Given the description of an element on the screen output the (x, y) to click on. 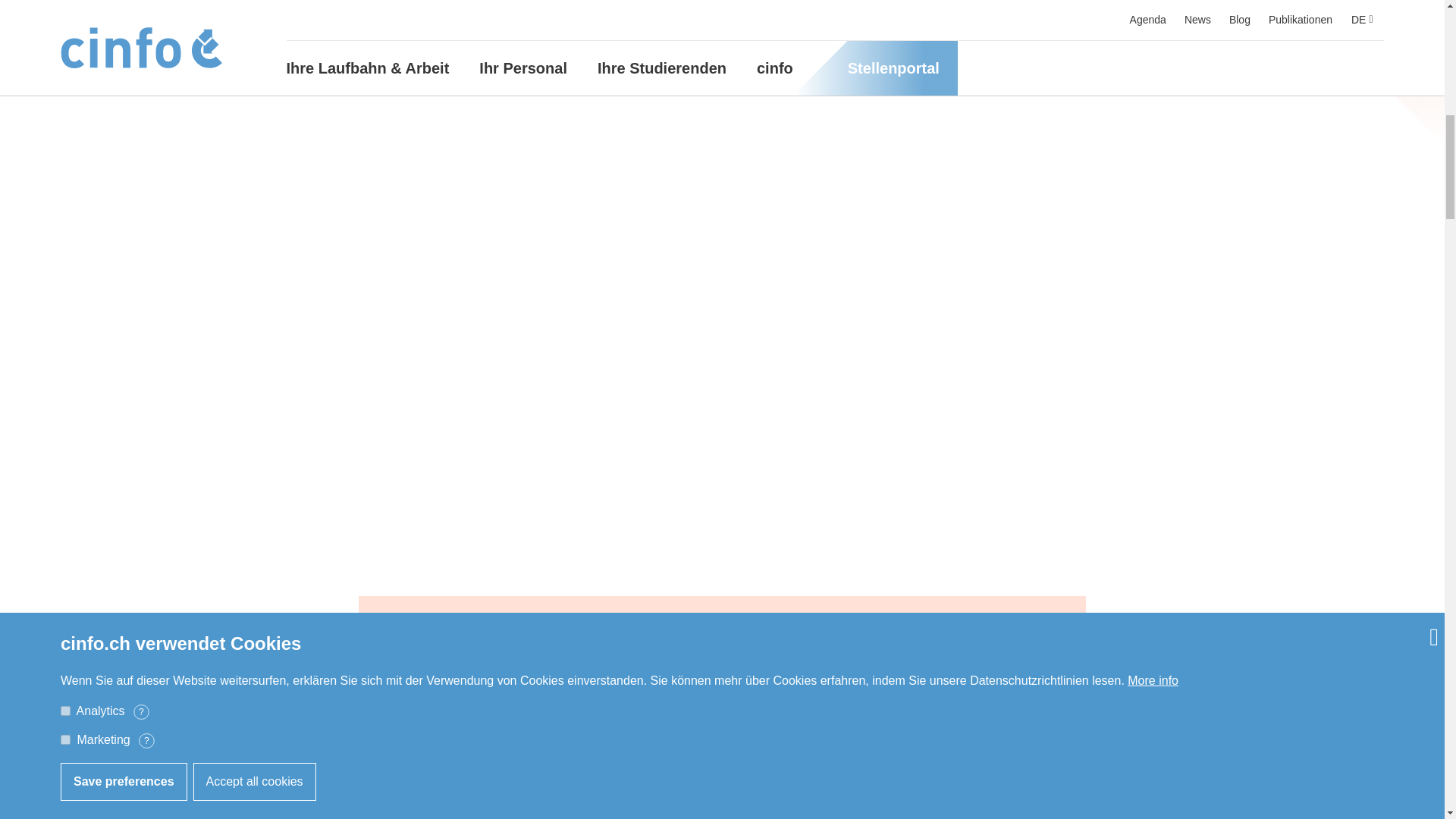
SDG Youth Programme (511, 802)
